Given the description of an element on the screen output the (x, y) to click on. 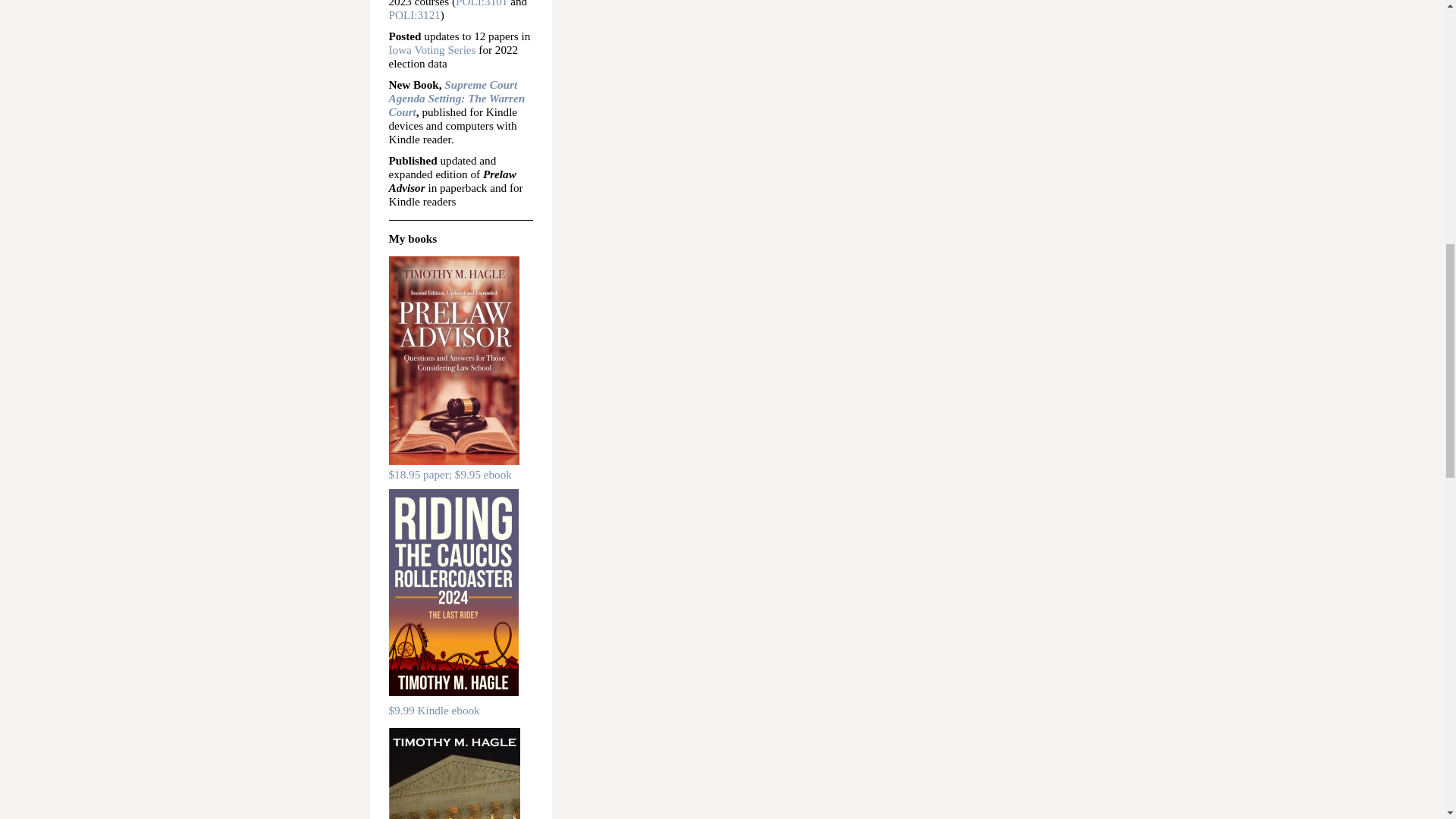
POLI:31 (475, 3)
Supreme Court Agenda Setting: The Warren Court (456, 97)
01 (501, 3)
Iowa Voting Series (432, 49)
POLI:312 (410, 14)
